Given the description of an element on the screen output the (x, y) to click on. 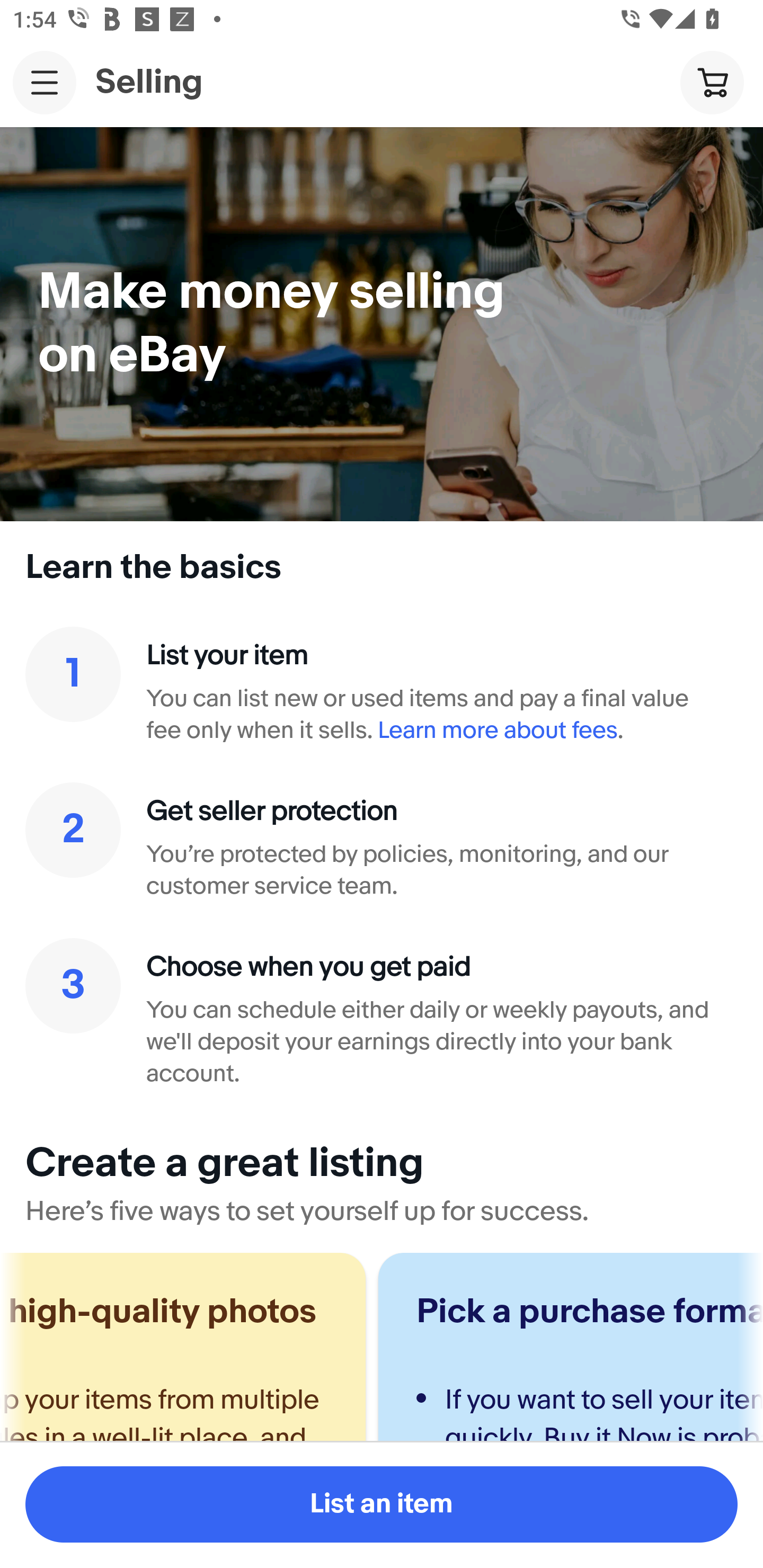
Main navigation, open (44, 82)
Cart button shopping cart (711, 81)
List an item (381, 1504)
